Given the description of an element on the screen output the (x, y) to click on. 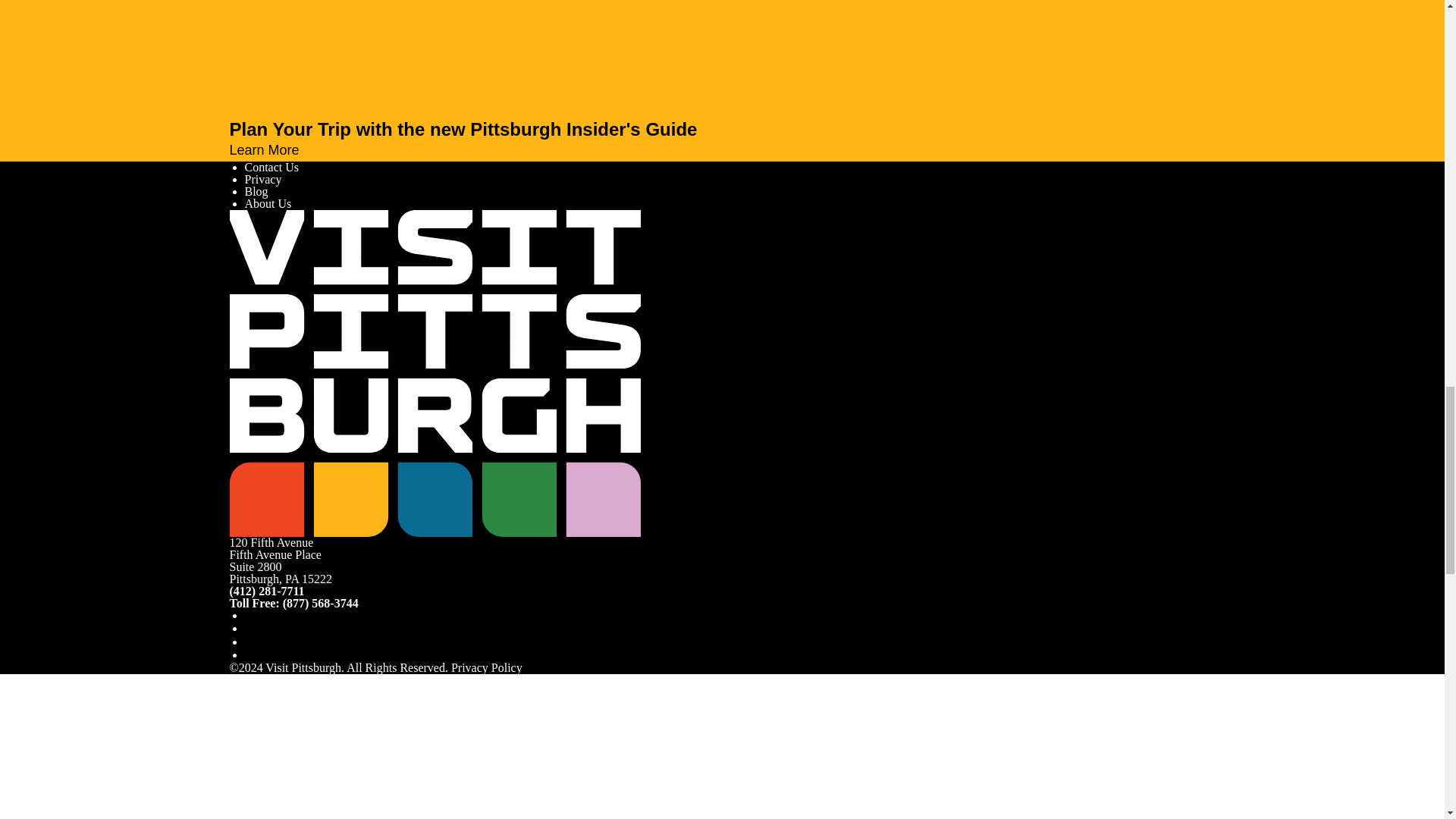
Blog (255, 191)
Learn More (270, 150)
Contact Us (271, 166)
Plan Your Trip with the new Pittsburgh Insider's Guide (721, 128)
About Us (267, 203)
Privacy (262, 178)
